Given the description of an element on the screen output the (x, y) to click on. 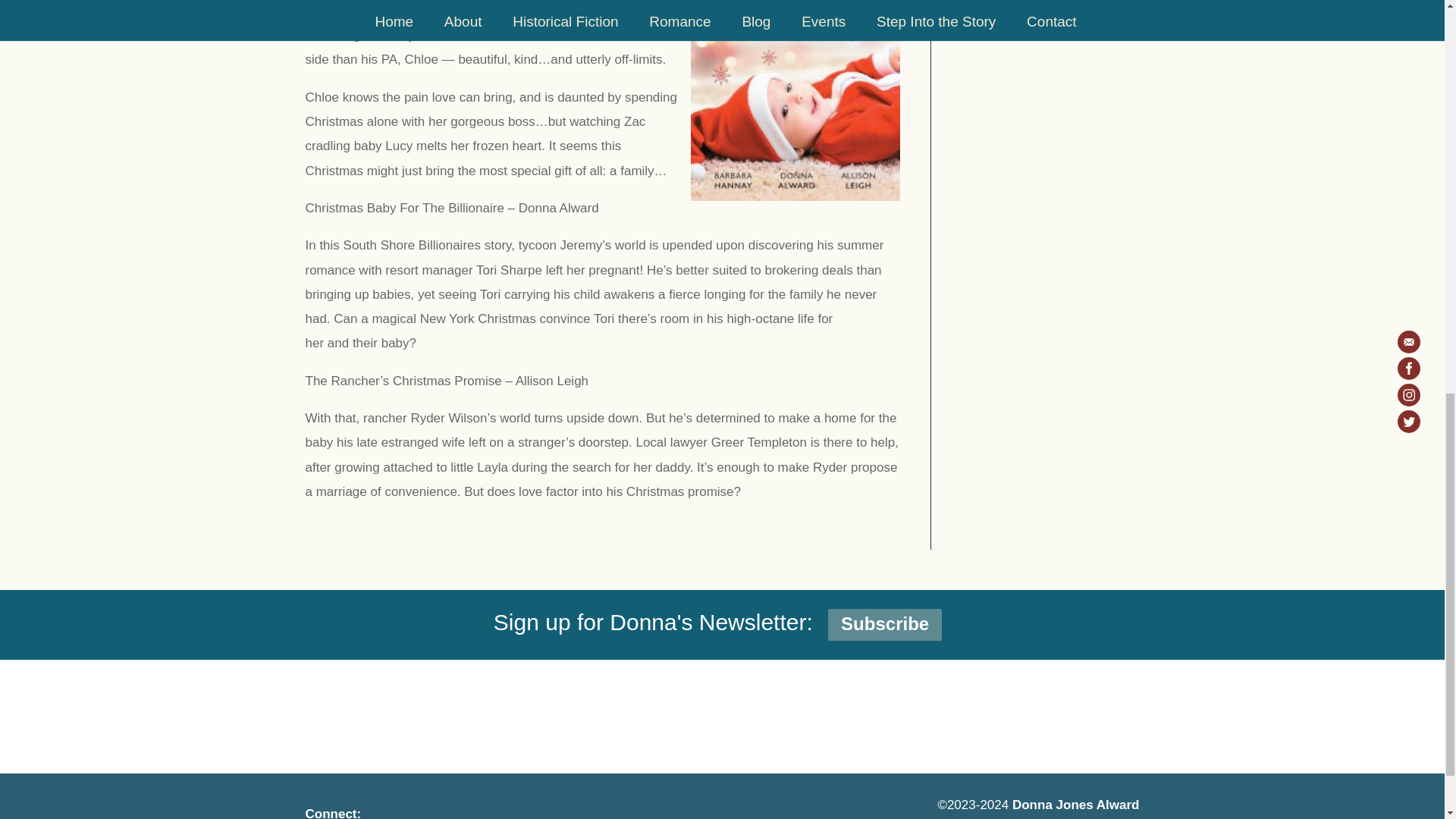
Subscribe (885, 624)
